Given the description of an element on the screen output the (x, y) to click on. 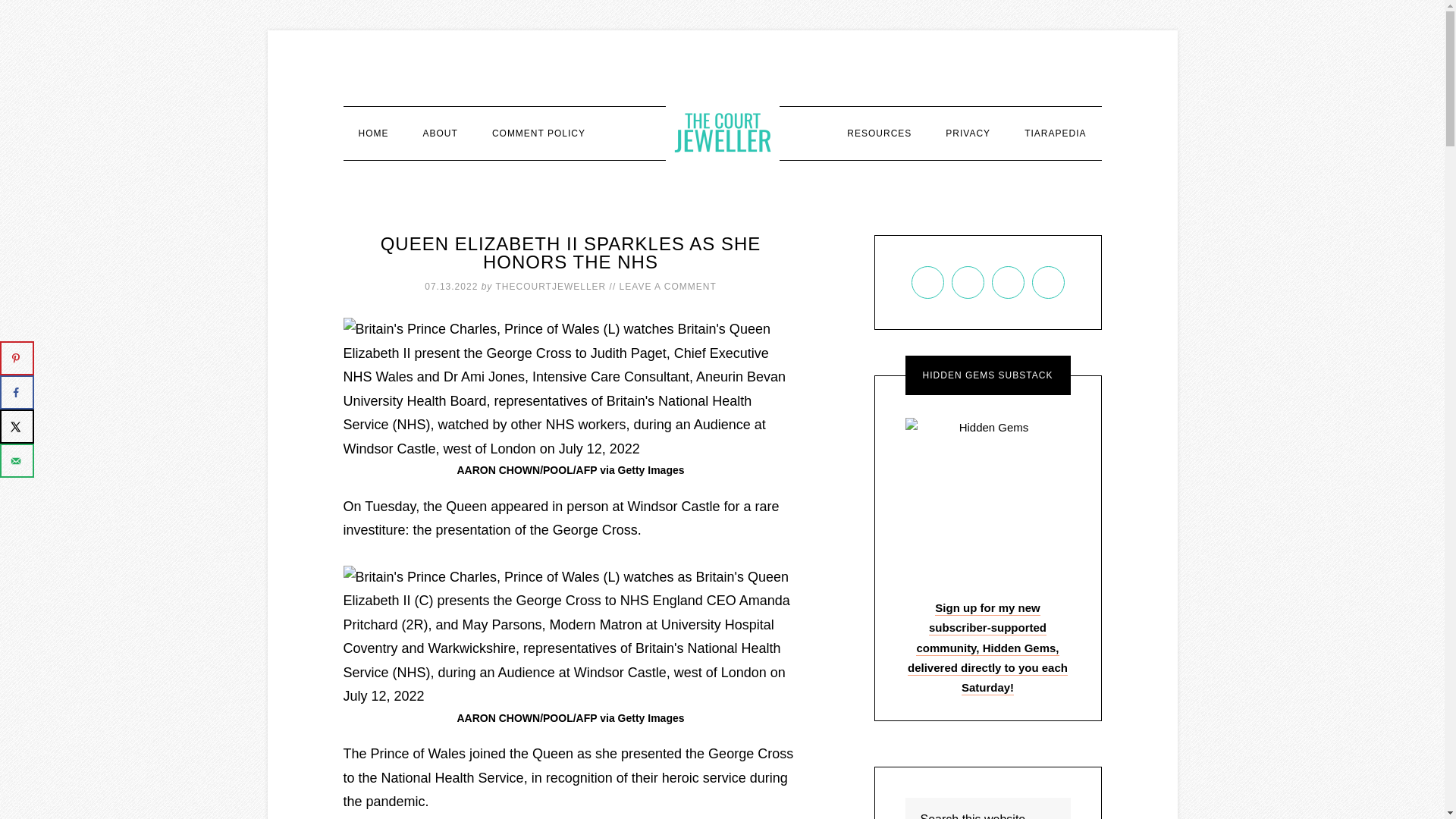
Email (926, 282)
HOME (372, 133)
Instagram (1008, 282)
Share on Facebook (16, 392)
Email (927, 282)
Save to Pinterest (16, 358)
COMMENT POLICY (538, 133)
